Given the description of an element on the screen output the (x, y) to click on. 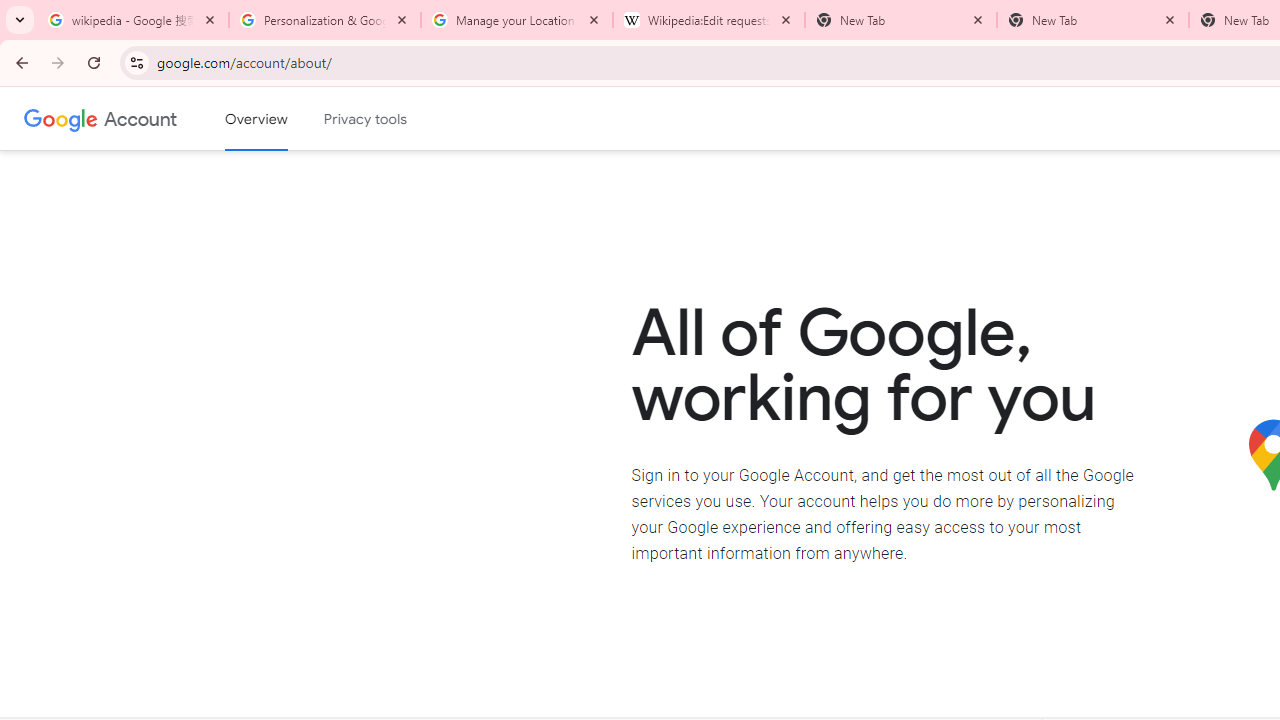
Google Account overview (256, 119)
Privacy tools (365, 119)
